Given the description of an element on the screen output the (x, y) to click on. 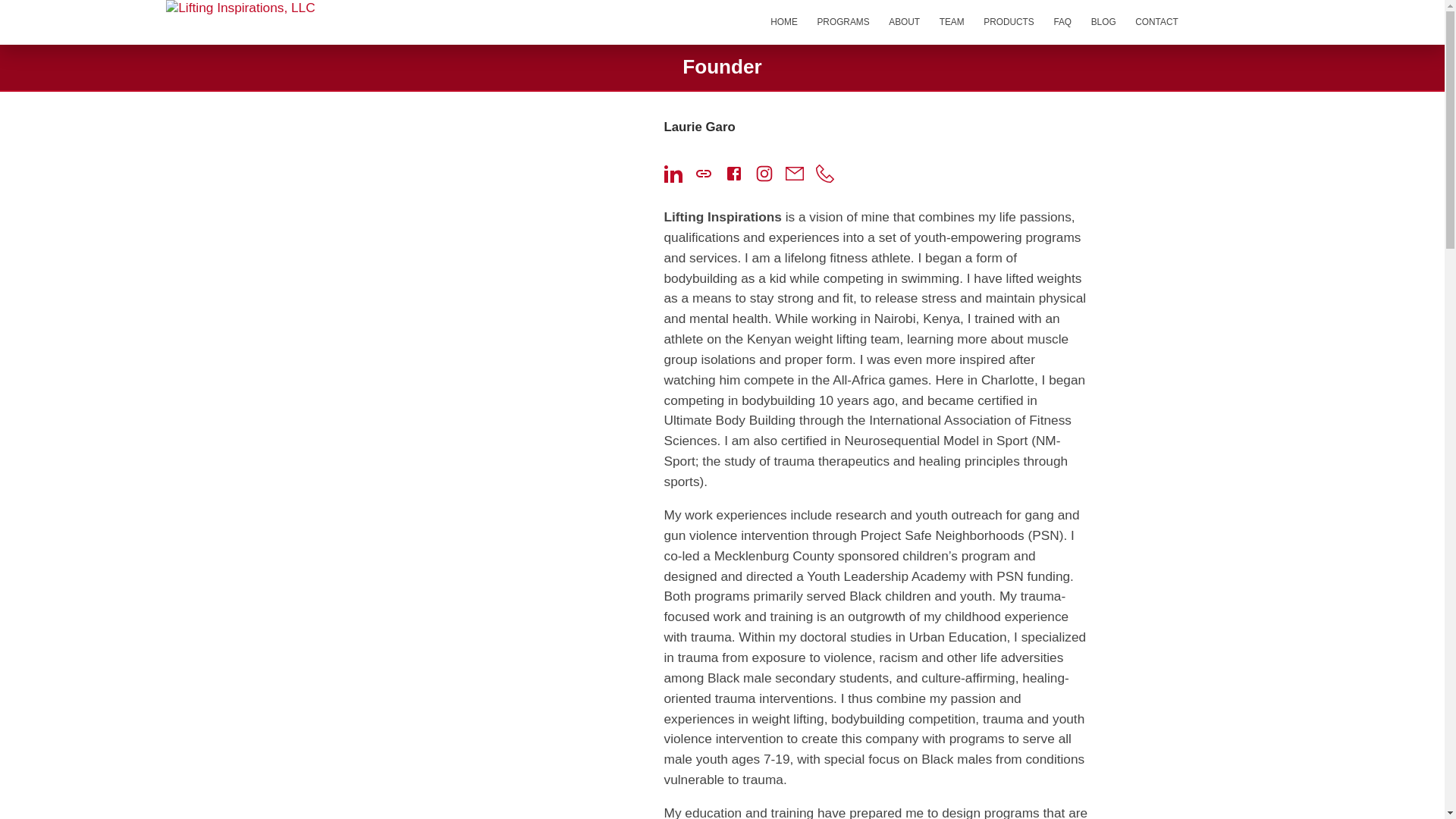
ABOUT (903, 22)
BLOG (1103, 22)
CONTACT (1156, 22)
FAQ (1062, 22)
TEAM (952, 22)
PROGRAMS (843, 22)
HOME (783, 22)
PRODUCTS (1008, 22)
